Given the description of an element on the screen output the (x, y) to click on. 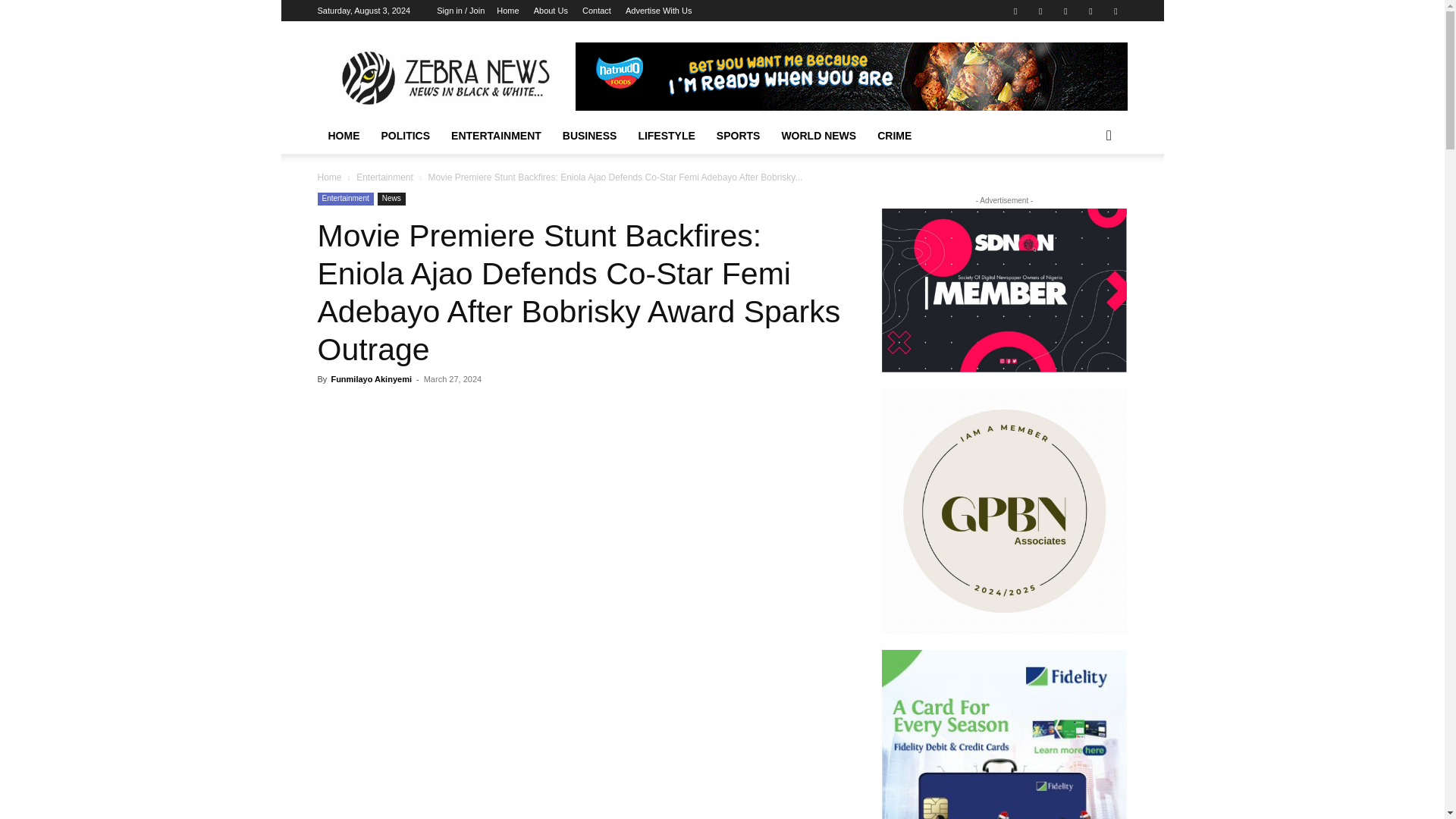
Youtube (1114, 10)
VKontakte (1090, 10)
Vimeo (1065, 10)
Facebook (1015, 10)
Twitter (1040, 10)
